Given the description of an element on the screen output the (x, y) to click on. 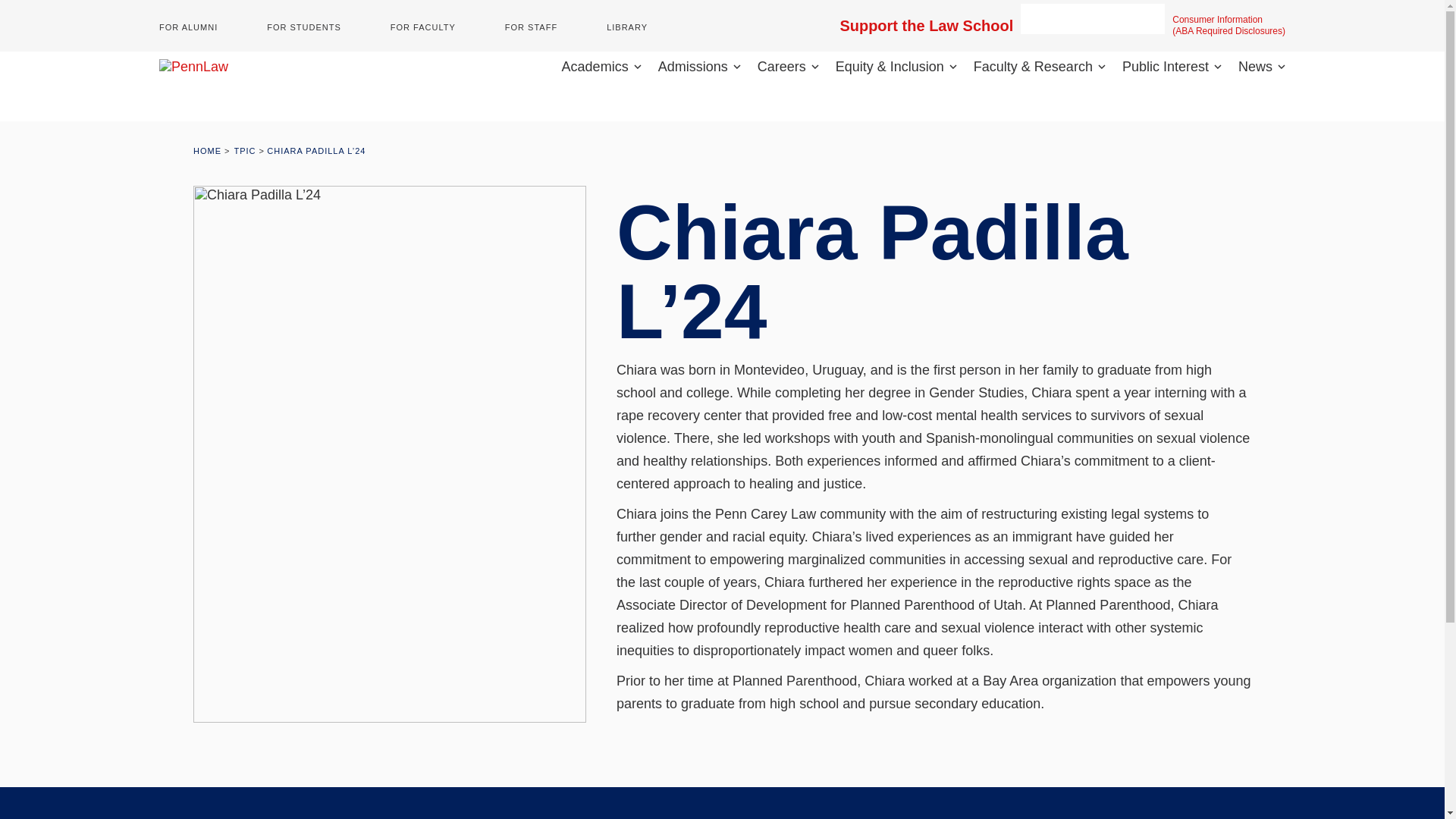
Submit (1149, 19)
Admissions (699, 66)
Submit (1149, 19)
Support the Law School (926, 25)
LIBRARY (627, 27)
FOR STAFF (531, 27)
FOR FACULTY (422, 27)
FOR STUDENTS (303, 27)
Academics (602, 66)
FOR ALUMNI (187, 27)
Careers (787, 66)
